Given the description of an element on the screen output the (x, y) to click on. 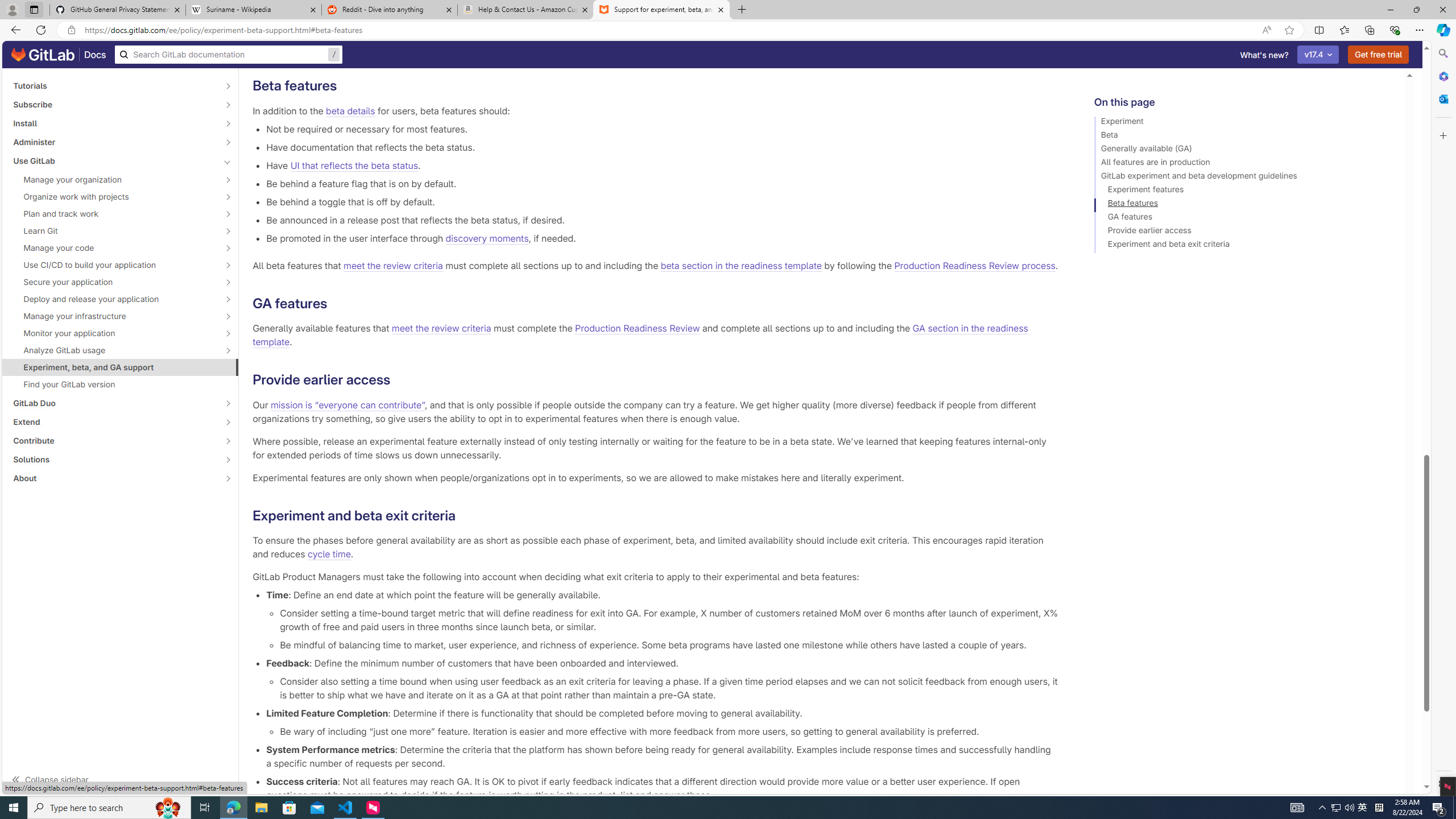
Not be required or necessary for most features. (662, 128)
Experiment and beta exit criteria (1244, 246)
GA features (1244, 218)
Suriname - Wikipedia (253, 9)
Experiment features (1244, 191)
What's new? (1263, 54)
Organize work with projects (113, 196)
Experiment and beta exit criteria (1244, 246)
